Given the description of an element on the screen output the (x, y) to click on. 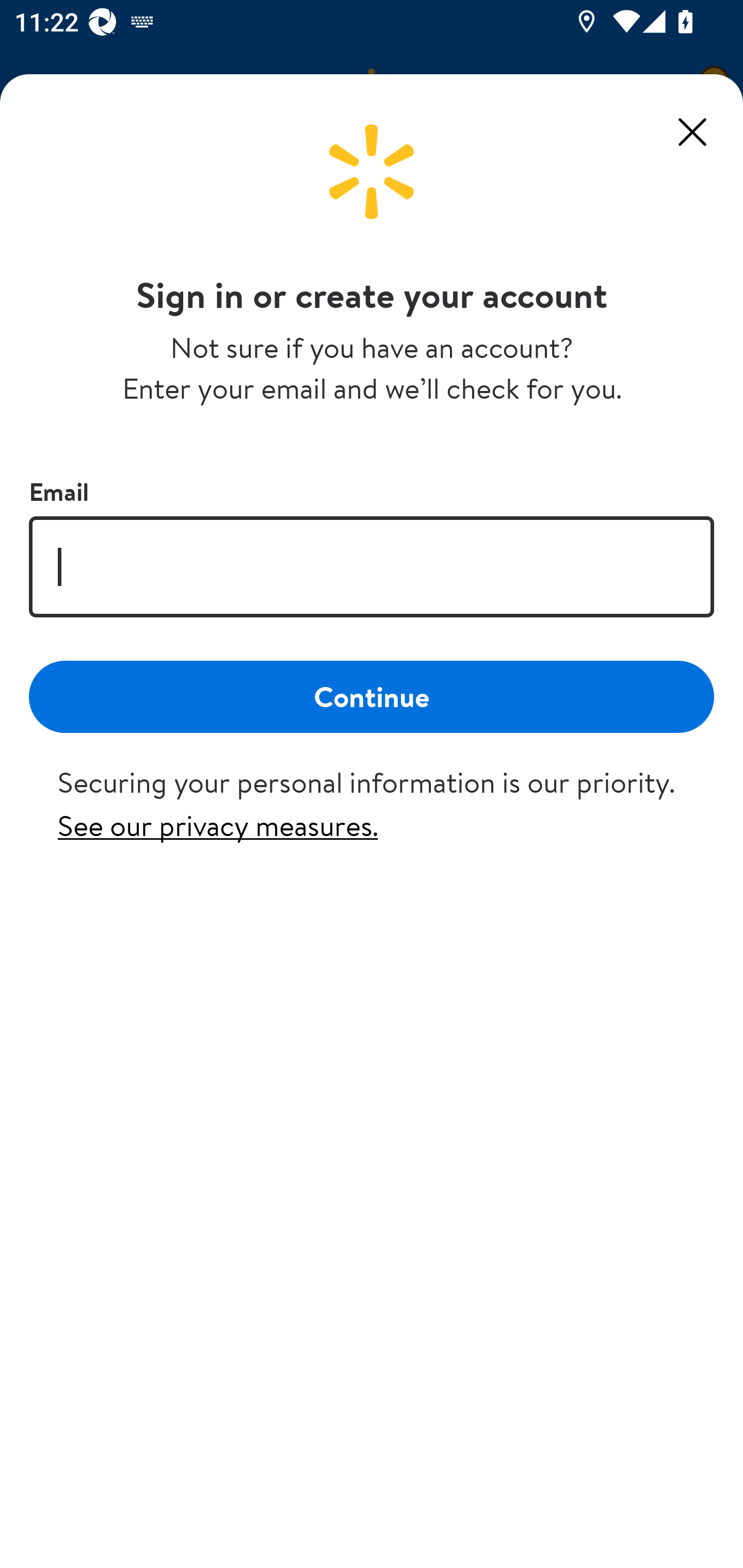
Close (692, 131)
Email (371, 566)
Continue (371, 696)
